Given the description of an element on the screen output the (x, y) to click on. 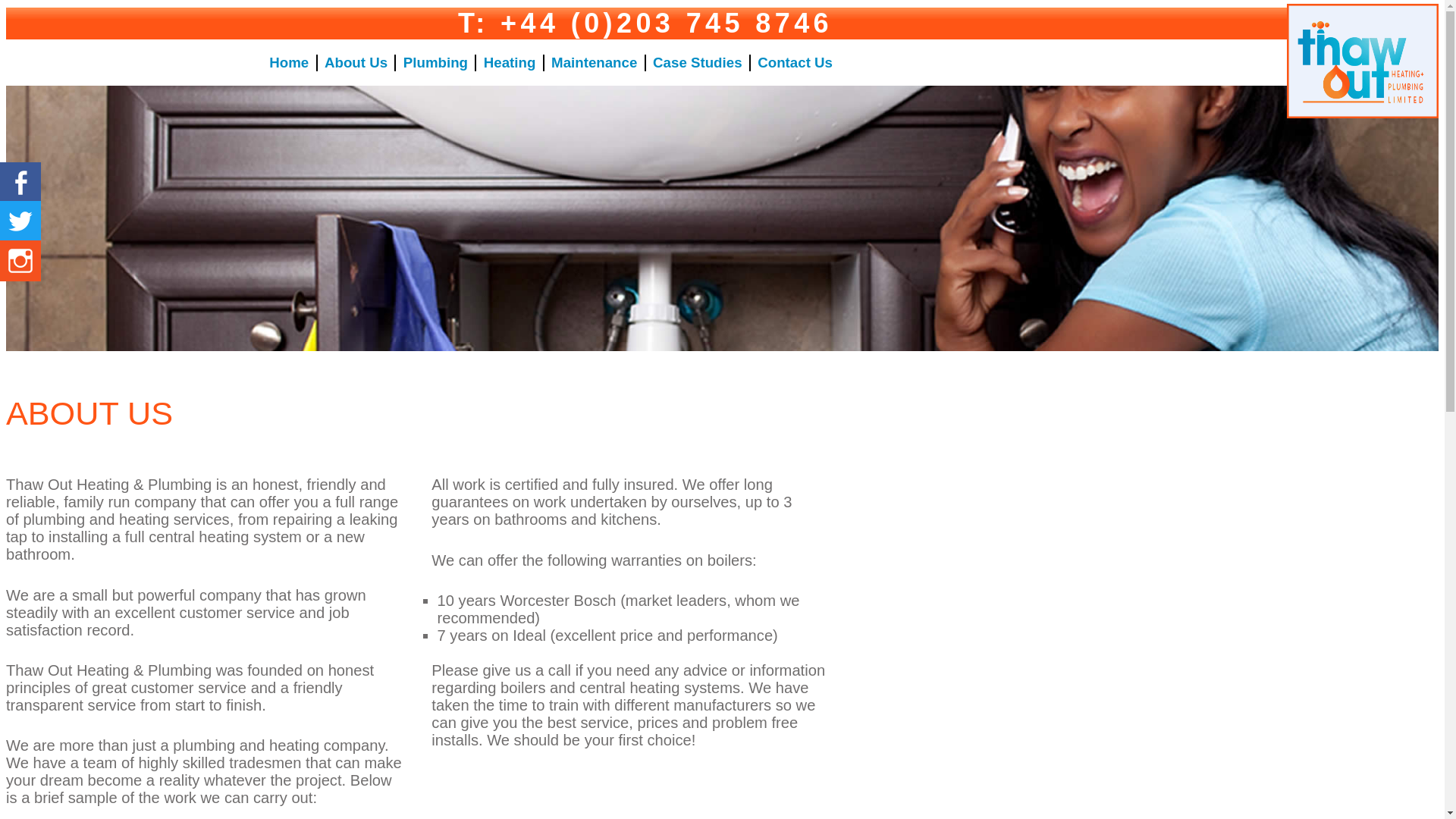
Home (288, 62)
Case Studies (696, 62)
Heating (509, 62)
Maintenance (594, 62)
Contact Us (794, 62)
About Us (355, 62)
Plumbing (435, 62)
